Given the description of an element on the screen output the (x, y) to click on. 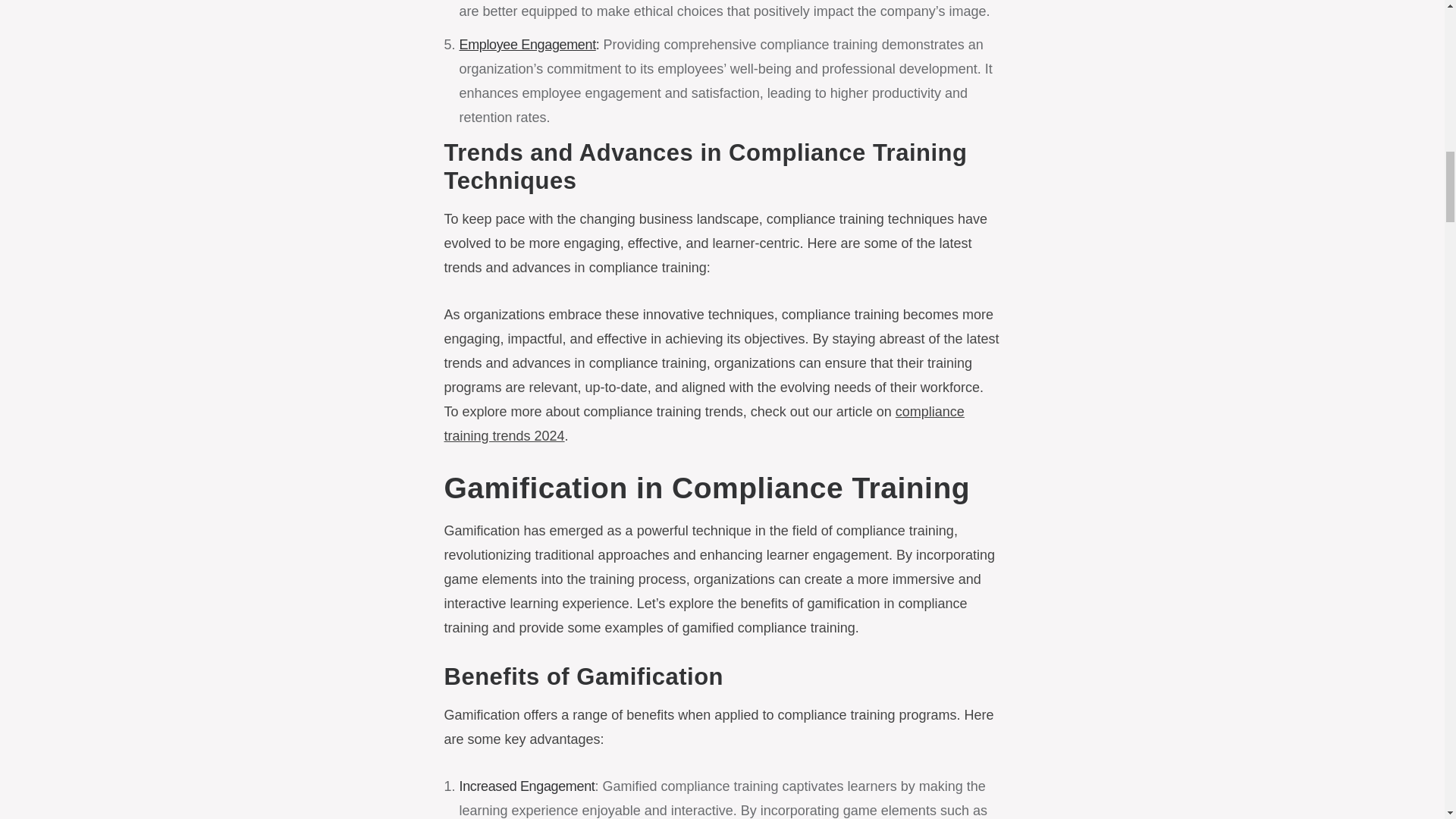
compliance training trends 2024 (703, 423)
Employee Engagement (527, 44)
Employee Engagement (527, 44)
